Given the description of an element on the screen output the (x, y) to click on. 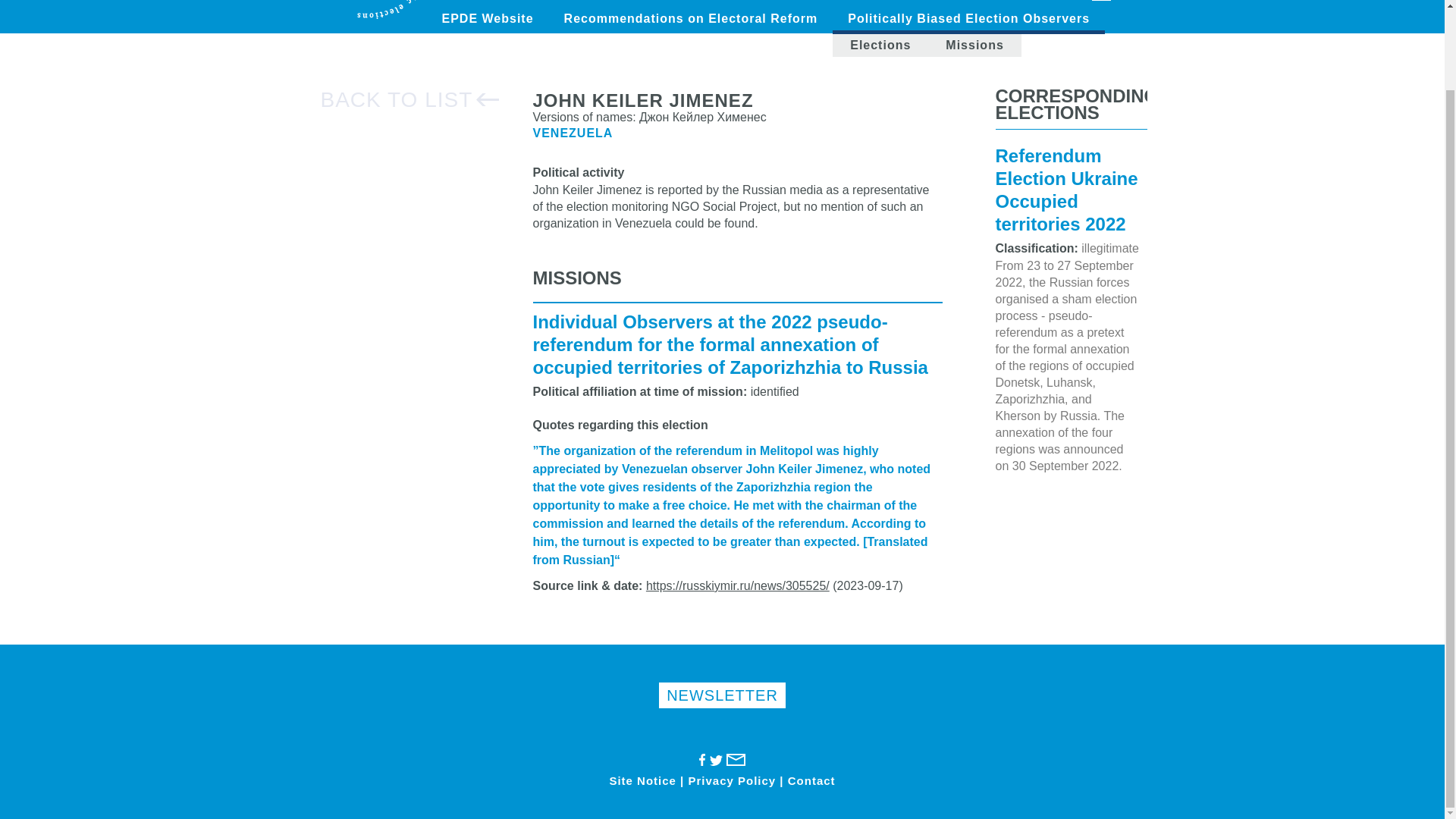
Politically Biased Election Observers (968, 20)
EPDE Website (487, 18)
Site Notice (642, 780)
Referendum Election Ukraine Occupied territories 2022 (1065, 191)
NEWSLETTER (722, 695)
Elections (880, 45)
Recommendations on Electoral Reform (690, 18)
Politically Biased Election Observers (968, 20)
Missions (974, 45)
Privacy Policy (731, 780)
Missions (974, 45)
BACK TO LIST (409, 99)
Contact (811, 780)
